Given the description of an element on the screen output the (x, y) to click on. 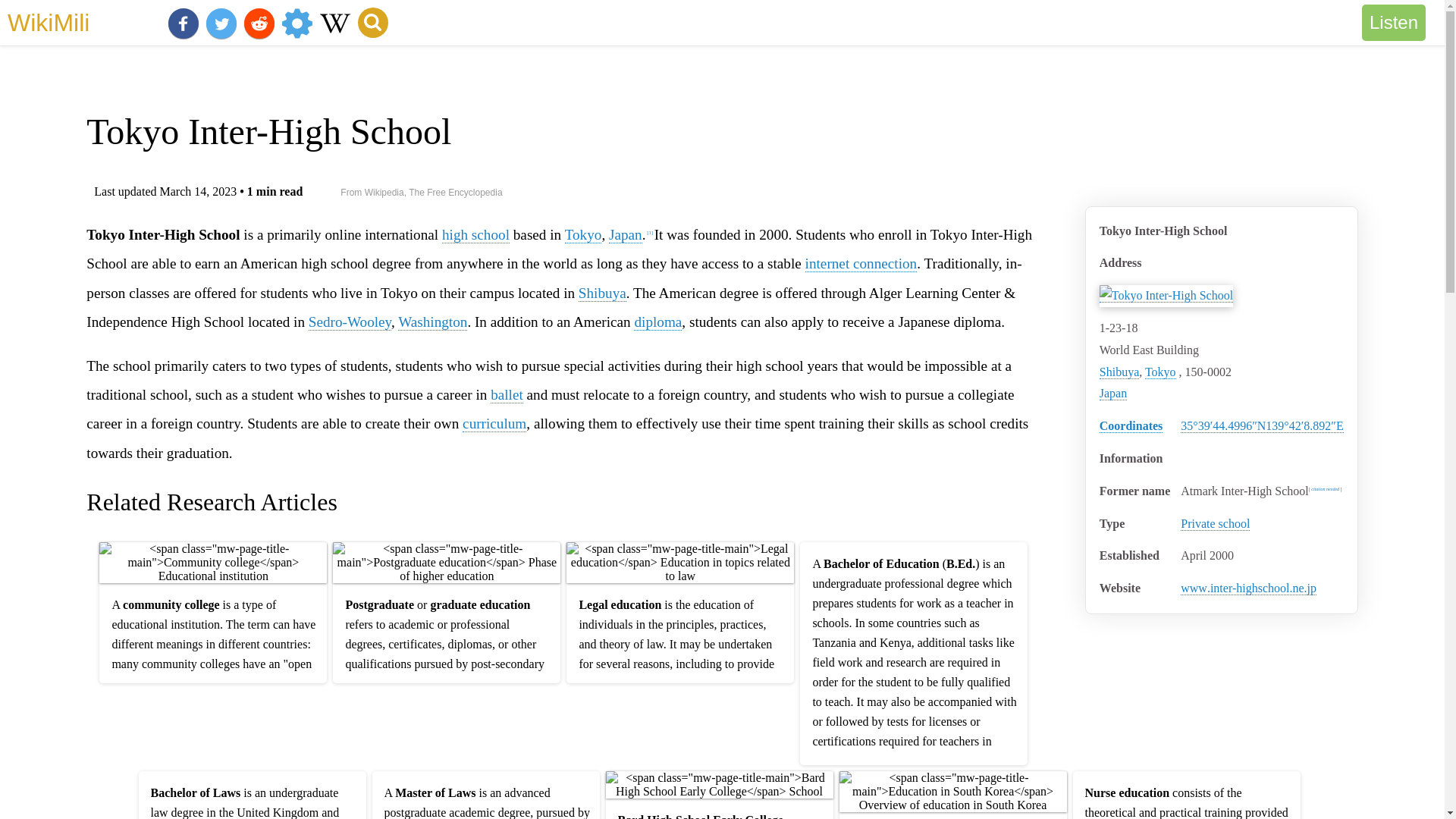
Private school (1214, 523)
diploma (657, 321)
High school (475, 234)
curriculum (494, 423)
Japan (1112, 393)
Shibuya (602, 293)
Search (373, 22)
Tokyo (1160, 372)
citation needed (1325, 488)
Maps, aerial photos, and other data for this location (1261, 425)
Geographic coordinate system (1131, 426)
Private school (1214, 523)
internet connection (861, 263)
Shibuya (1118, 372)
Japan (625, 234)
